Given the description of an element on the screen output the (x, y) to click on. 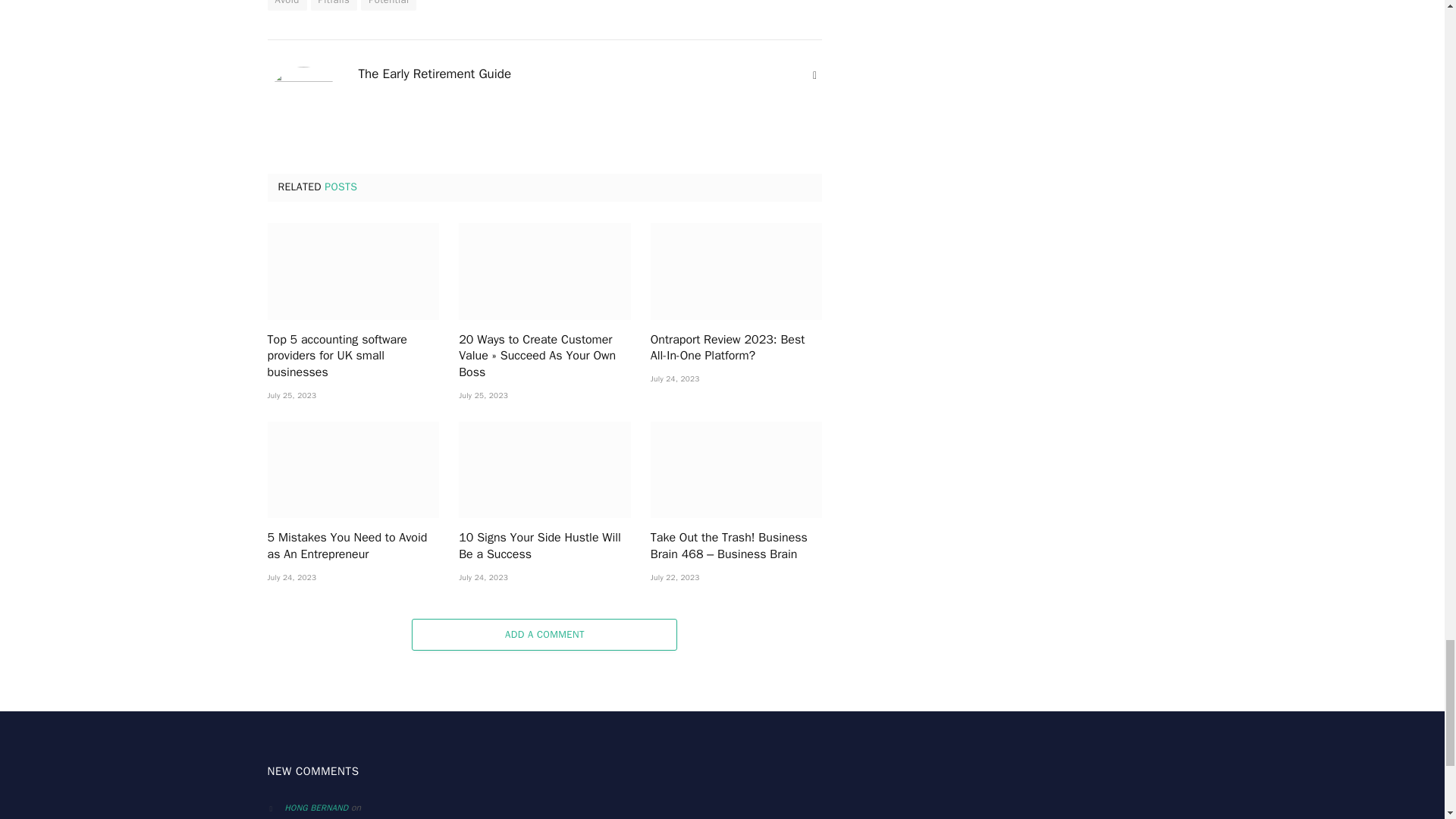
Website (814, 75)
Posts by The Early Retirement Guide (434, 73)
Top 5 accounting software providers for UK small businesses (352, 270)
